Given the description of an element on the screen output the (x, y) to click on. 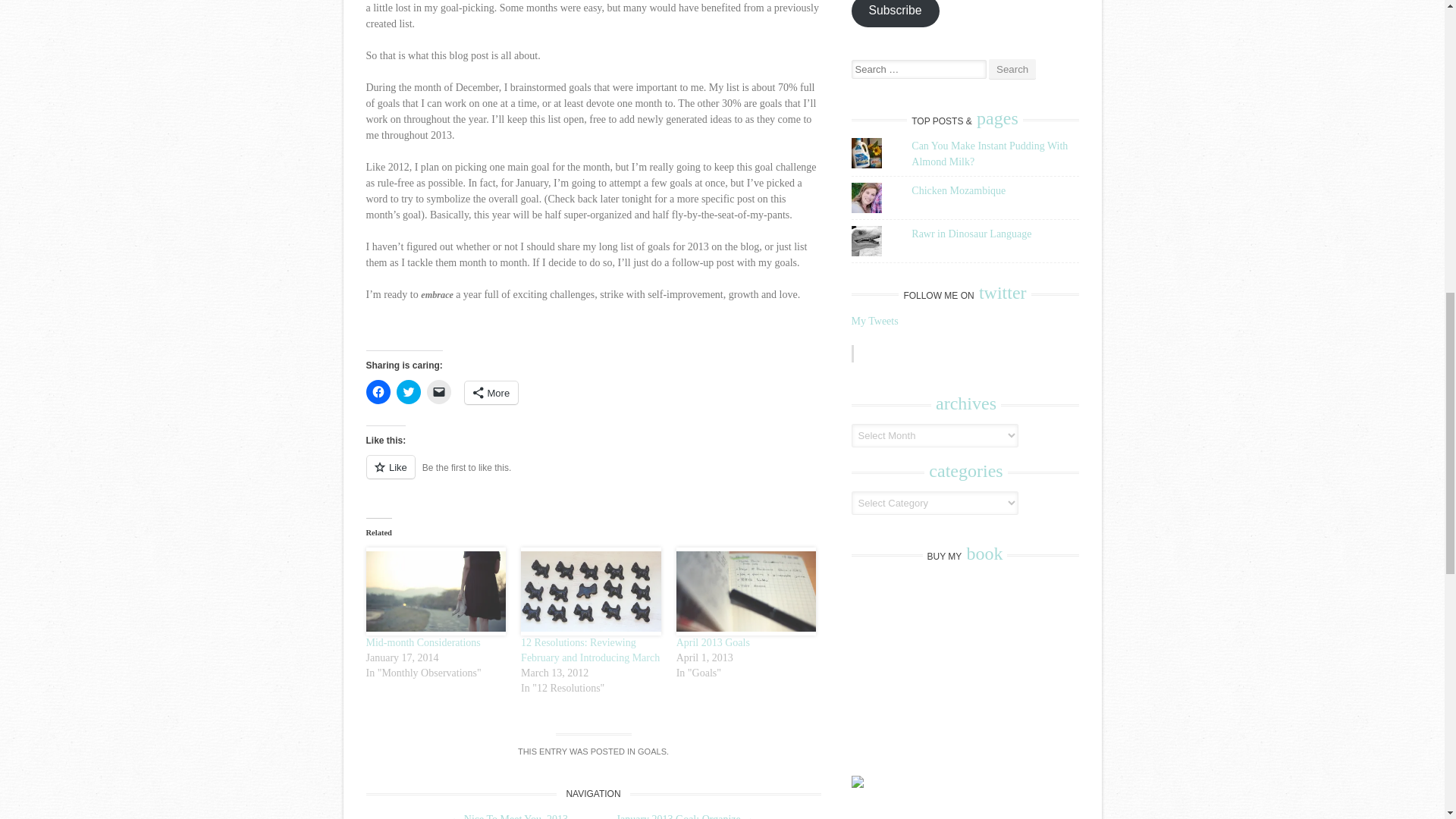
Search (1011, 68)
Subscribe (894, 13)
Search (1011, 68)
More (491, 392)
Search (1011, 68)
Like or Reblog (593, 475)
Mid-month Considerations (422, 642)
April 2013 Goals (713, 642)
12 Resolutions: Reviewing February and Introducing March (591, 590)
Mid-month Considerations (422, 642)
Click to email a link to a friend (437, 392)
12 Resolutions: Reviewing February and Introducing March (590, 650)
GOALS (651, 750)
Mid-month Considerations (435, 590)
April 2013 Goals (713, 642)
